Given the description of an element on the screen output the (x, y) to click on. 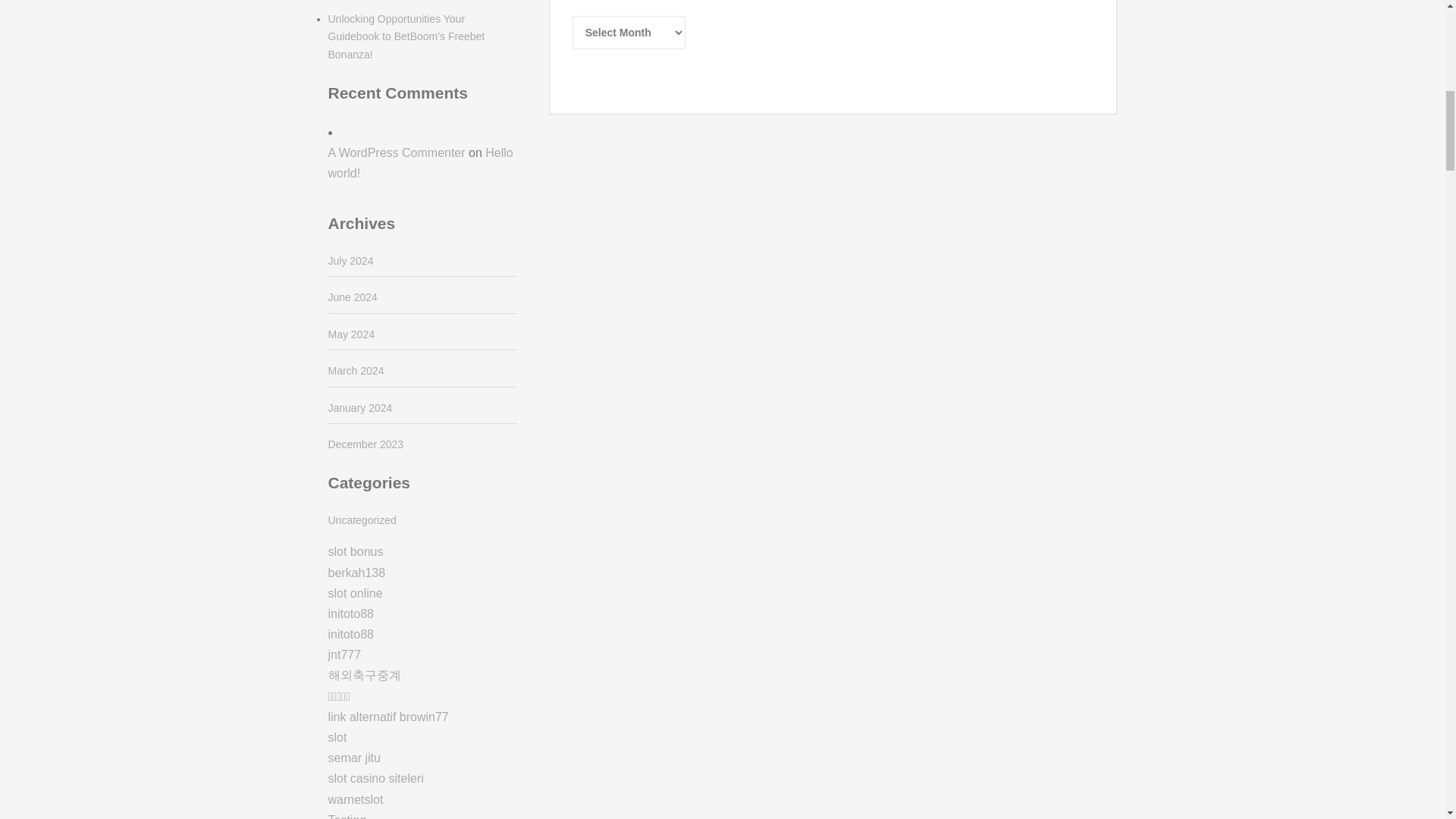
initoto88 (350, 634)
initoto88 (350, 613)
Uncategorized (361, 520)
Hello world! (419, 162)
March 2024 (355, 370)
January 2024 (359, 408)
December 2023 (365, 444)
A WordPress Commenter (395, 152)
May 2024 (350, 334)
jnt777 (344, 654)
July 2024 (349, 260)
slot (336, 737)
June 2024 (352, 297)
slot bonus (354, 551)
berkah138 (356, 572)
